Given the description of an element on the screen output the (x, y) to click on. 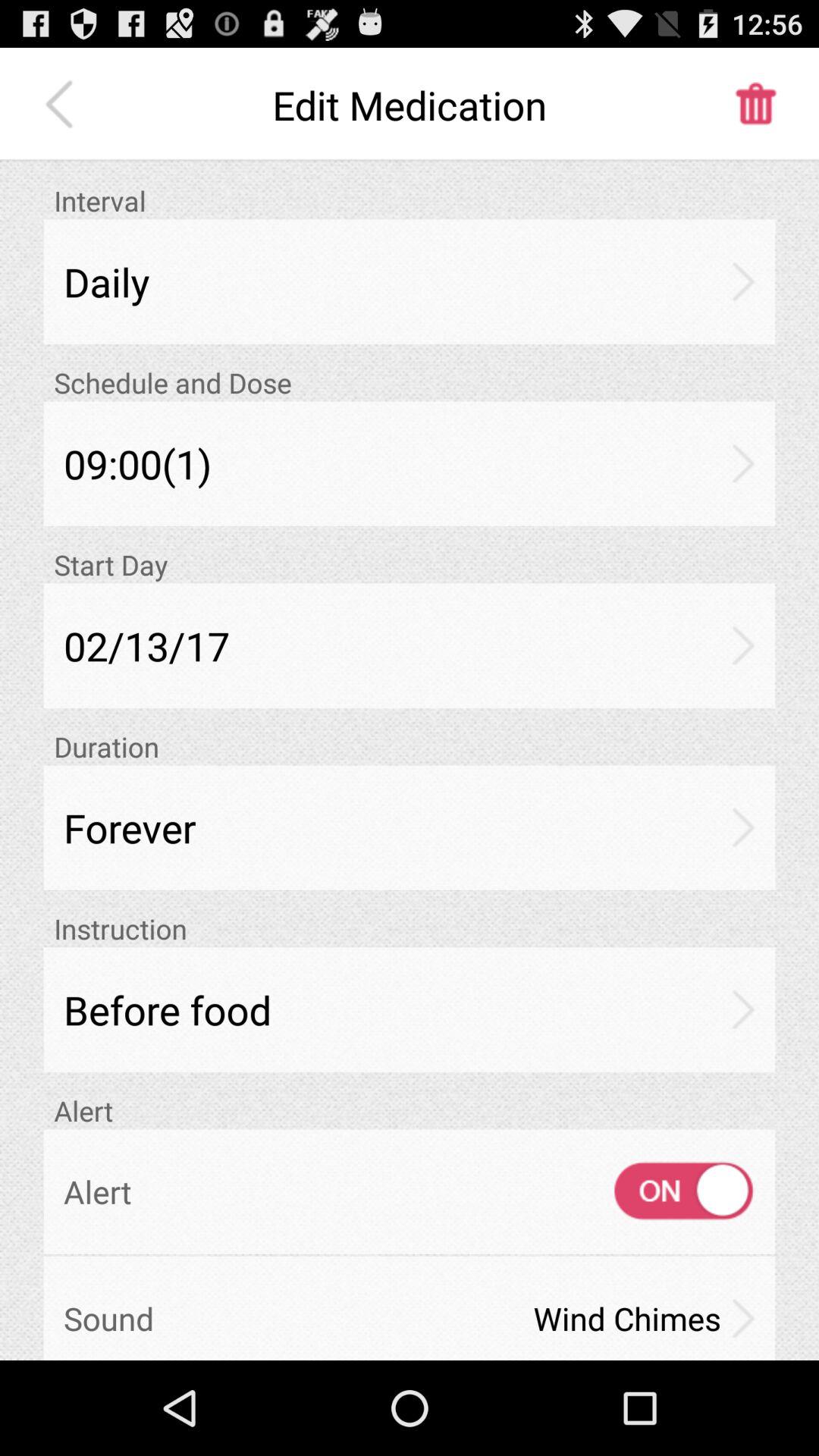
turn off forever (409, 827)
